Given the description of an element on the screen output the (x, y) to click on. 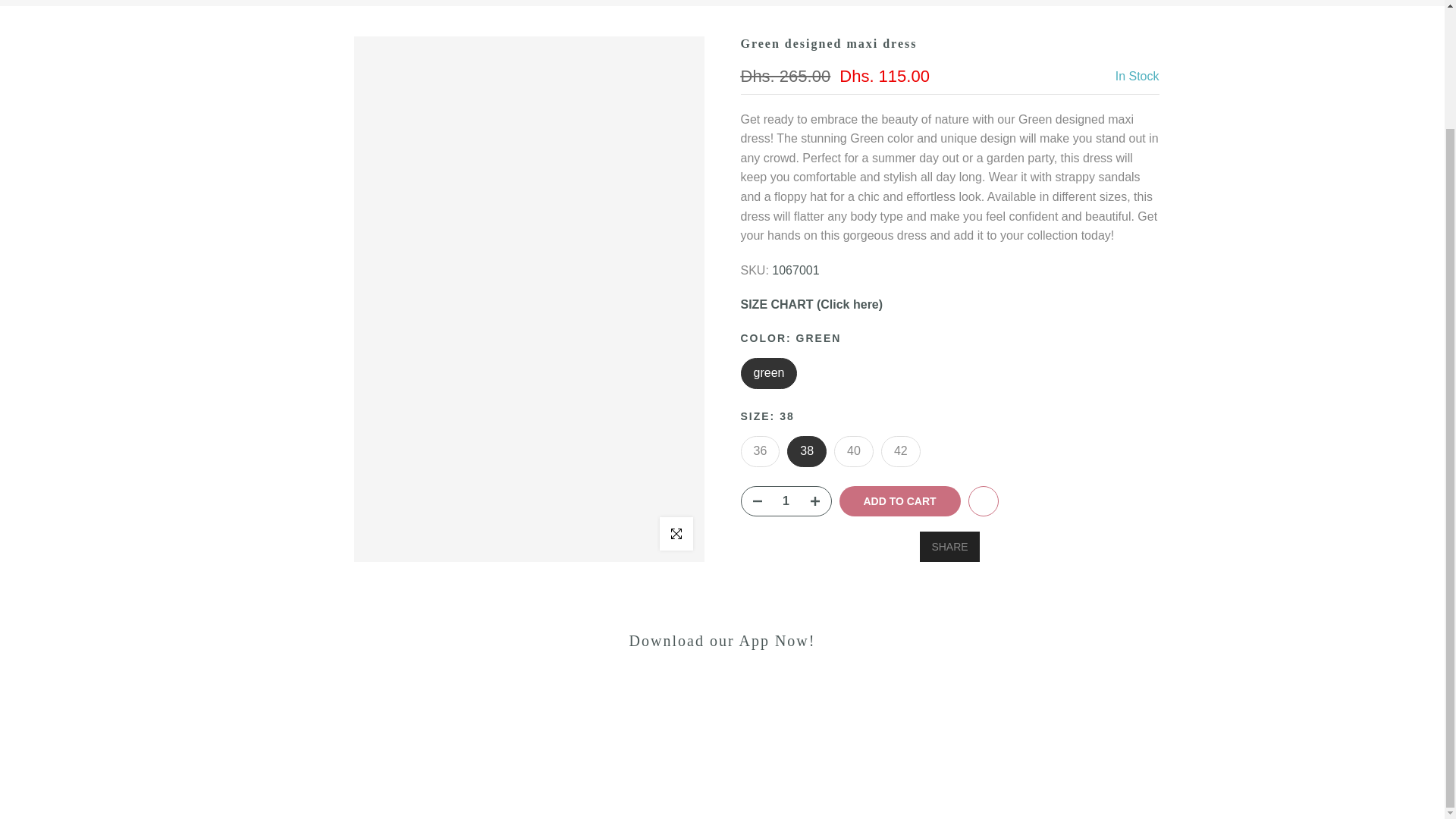
green (767, 373)
1 (786, 500)
ADD TO CART (898, 501)
SHARE (949, 546)
